Given the description of an element on the screen output the (x, y) to click on. 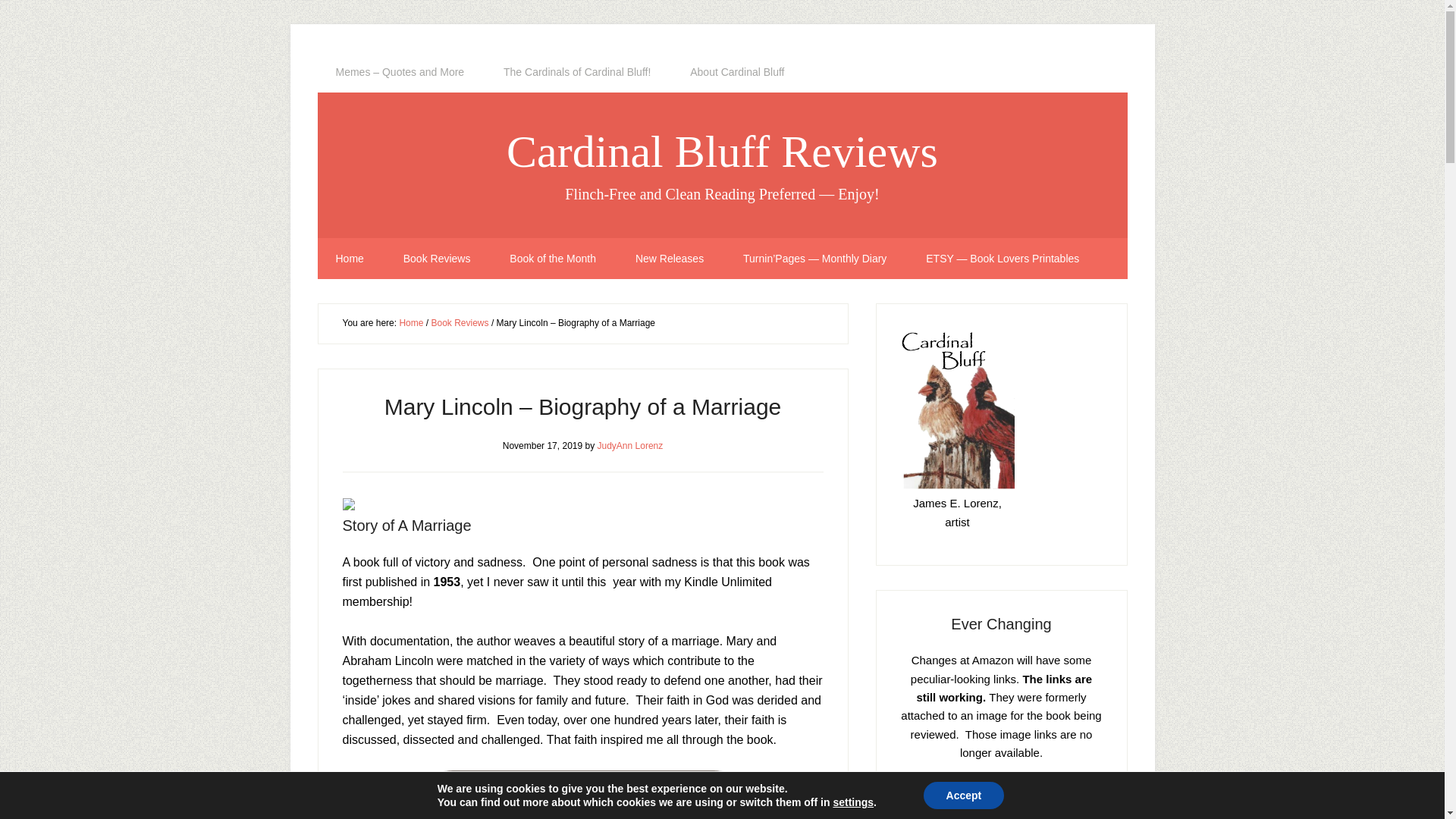
About Cardinal Bluff (736, 71)
Home (349, 258)
Book Reviews (458, 322)
Home (410, 322)
The Cardinals of Cardinal Bluff! (576, 71)
Book Reviews (437, 258)
Book of the Month (553, 258)
JudyAnn Lorenz (629, 444)
Cardinal Bluff Reviews (721, 151)
New Releases (669, 258)
